Given the description of an element on the screen output the (x, y) to click on. 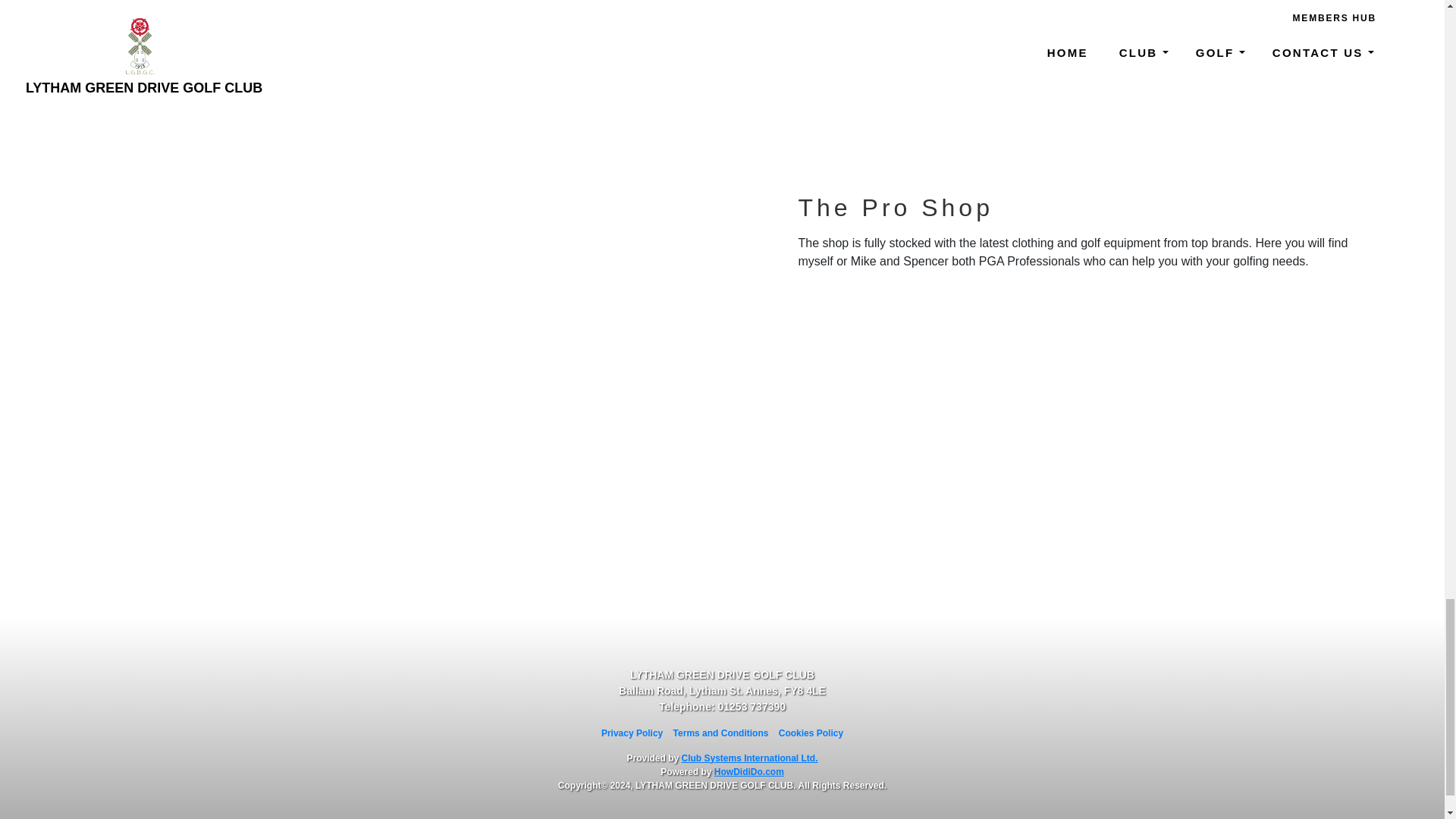
Club Systems International Ltd. (748, 757)
HowDidiDo.com (749, 770)
Terms and Conditions (720, 733)
Privacy Policy (631, 733)
Cookies Policy (810, 733)
